Given the description of an element on the screen output the (x, y) to click on. 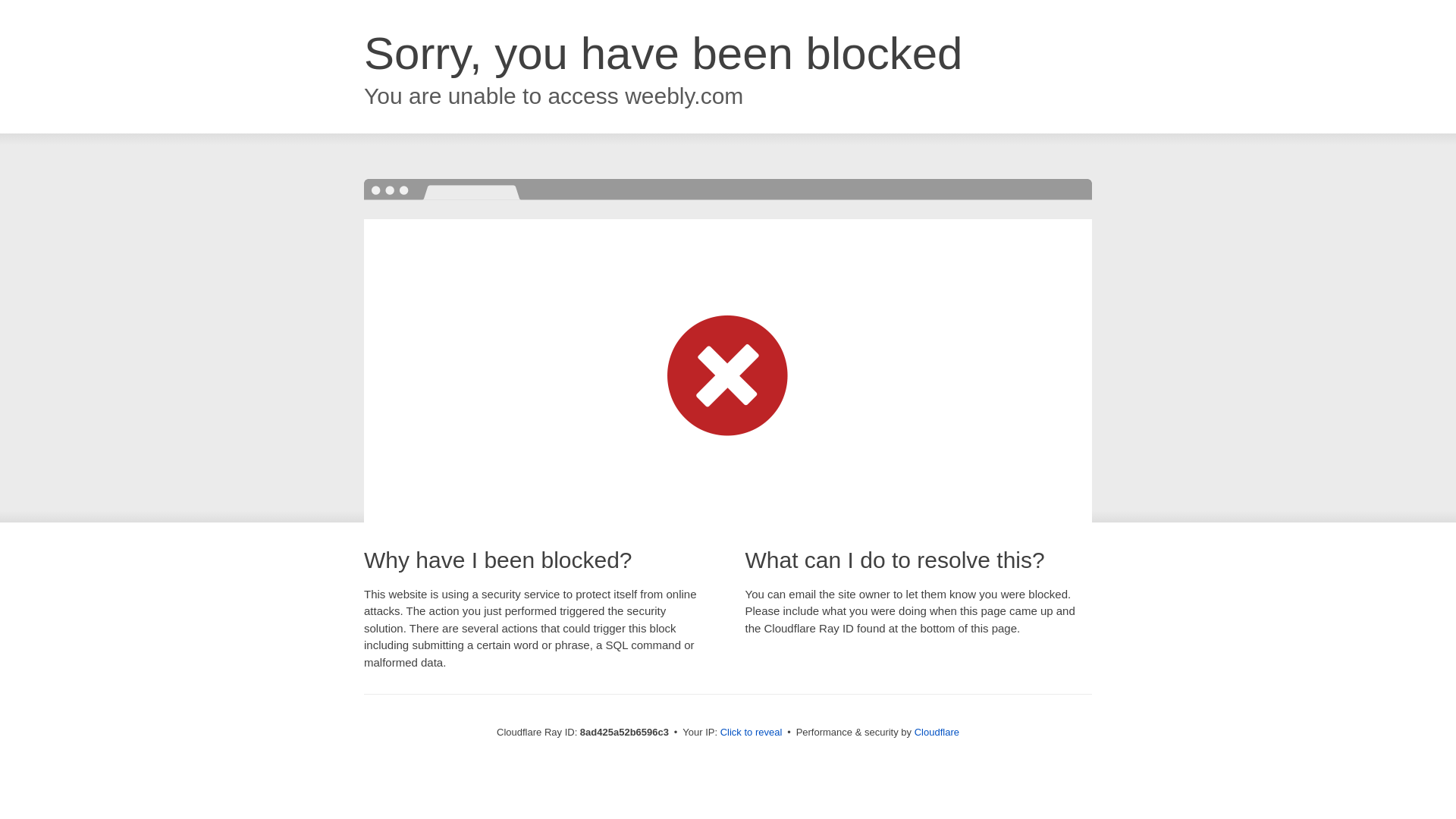
Cloudflare (936, 731)
Click to reveal (751, 732)
